Given the description of an element on the screen output the (x, y) to click on. 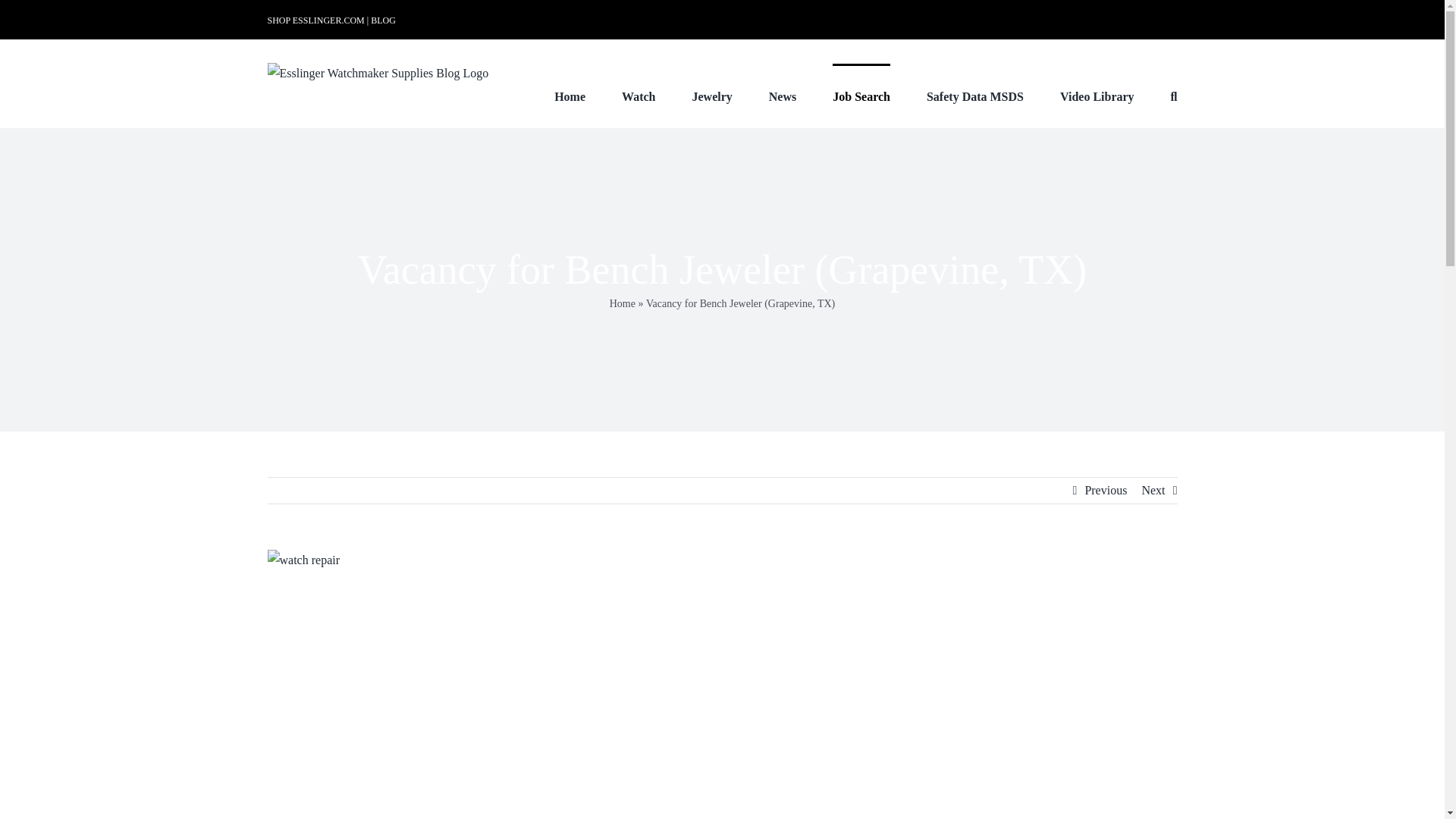
BLOG (383, 20)
Next (1152, 490)
Home (622, 303)
SHOP ESSLINGER.COM (315, 20)
Safety Data MSDS (974, 95)
Job Search (860, 95)
Previous (1105, 490)
Video Library (1096, 95)
